Given the description of an element on the screen output the (x, y) to click on. 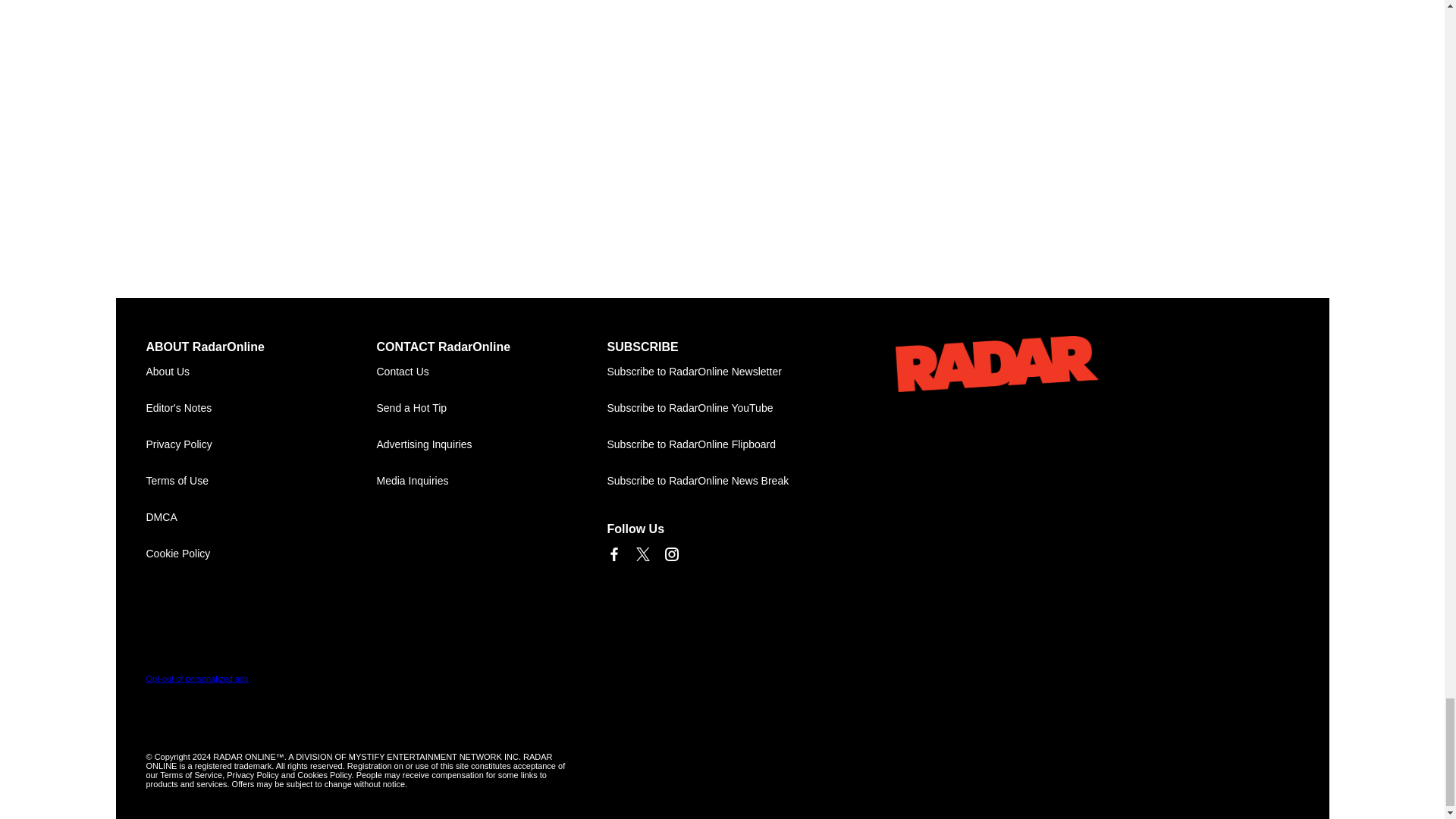
Advertising Inquiries (491, 444)
Editor's Notes (260, 408)
Media Inquiries (491, 481)
DMCA (260, 517)
Privacy Policy (260, 444)
Subscribe (722, 371)
Cookie Policy (260, 554)
Link to Facebook (613, 554)
Link to X (641, 554)
Send a Hot Tip (491, 408)
